Given the description of an element on the screen output the (x, y) to click on. 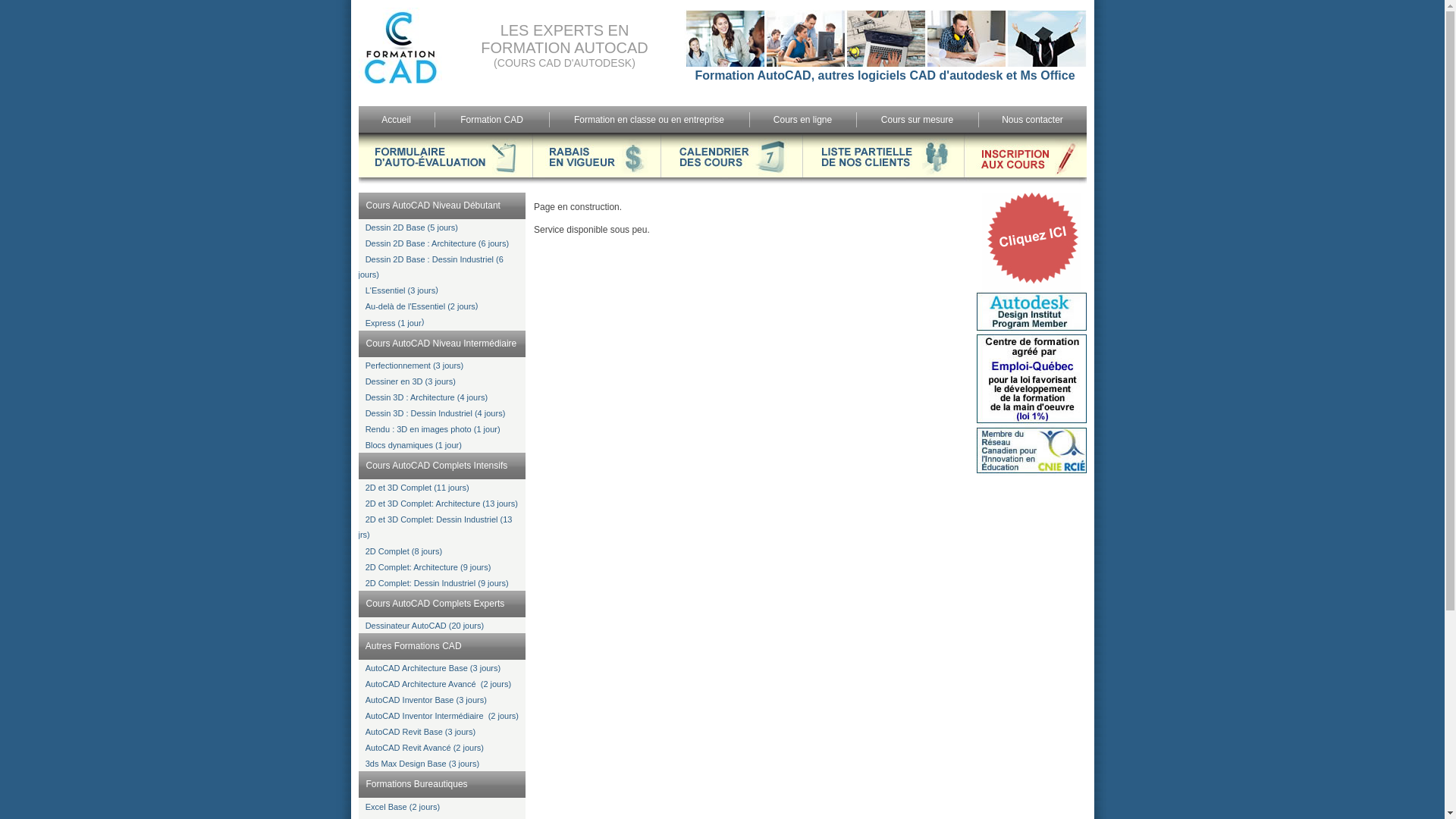
Formation CAD Element type: text (491, 118)
2D Complet (8 jours) Element type: text (403, 550)
Cours sur mesure Element type: text (917, 118)
AutoCAD Revit Base (3 jours) Element type: text (420, 731)
Dessiner en 3D (3 jours) Element type: text (410, 380)
Perfectionnement (3 jours) Element type: text (414, 365)
2D Complet: Dessin Industriel (9 jours) Element type: text (436, 582)
Dessin 3D : Architecture (4 jours) Element type: text (426, 396)
2D et 3D Complet: Dessin Industriel (13 jrs) Element type: text (434, 526)
Nous contacter Element type: text (1032, 118)
Excel Base (2 jours) Element type: text (402, 806)
Dessin 2D Base (5 jours) Element type: text (411, 227)
2D et 3D Complet: Architecture (13 jours) Element type: text (441, 503)
Dessin 2D Base : Architecture (6 jours) Element type: text (437, 242)
Dessin 3D : Dessin Industriel (4 jours) Element type: text (435, 412)
Blocs dynamiques (1 jour) Element type: text (413, 444)
L'Essentiel (3 jours Element type: text (400, 289)
Dessinateur AutoCAD (20 jours) Element type: text (424, 625)
Dessin 2D Base : Dessin Industriel (6 jours) Element type: text (429, 266)
AutoCAD Inventor Base (3 jours) Element type: text (425, 699)
2D et 3D Complet (11 jours) Element type: text (417, 487)
3ds Max Design Base (3 jours) Element type: text (422, 763)
Accueil Element type: text (396, 118)
Rendu : 3D en images photo (1 jour) Element type: text (432, 428)
Cours en ligne Element type: text (802, 118)
2D Complet: Architecture (9 jours) Element type: text (428, 566)
Express (1 jour Element type: text (393, 322)
Formation en classe ou en entreprise Element type: text (649, 118)
AutoCAD Architecture Base (3 jours) Element type: text (433, 667)
